Given the description of an element on the screen output the (x, y) to click on. 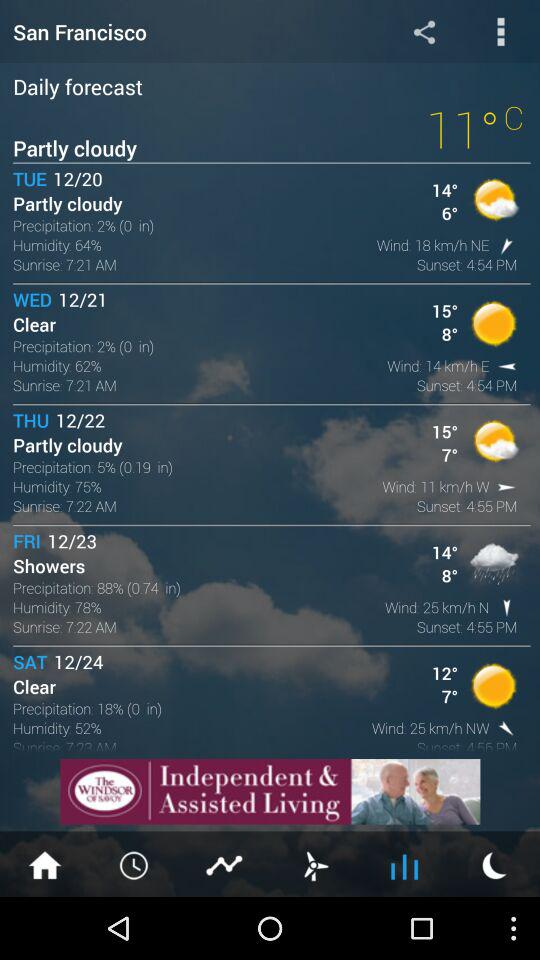
share (424, 31)
